Given the description of an element on the screen output the (x, y) to click on. 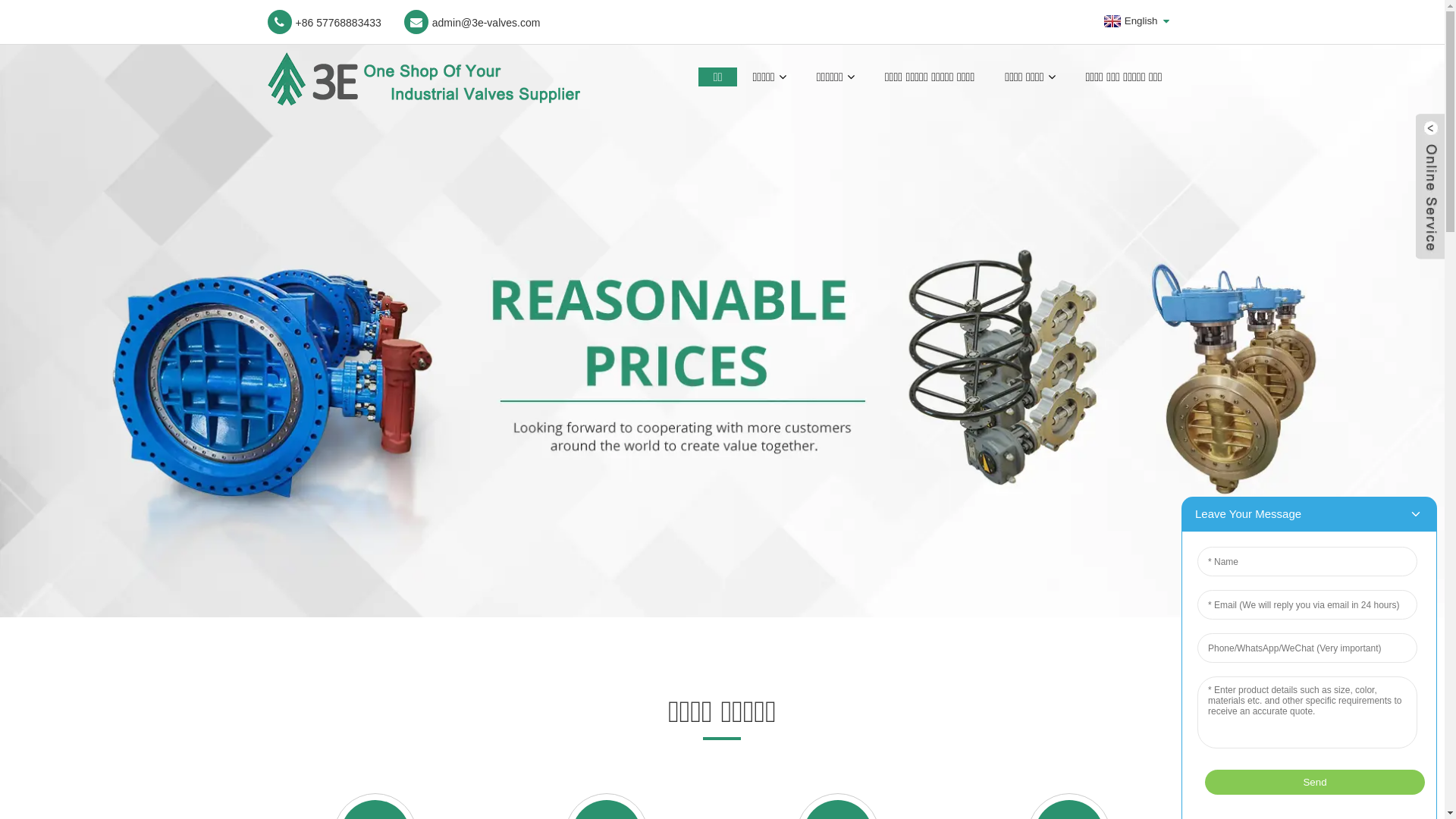
English Element type: text (1128, 21)
admin@3e-valves.com Element type: text (472, 21)
